Given the description of an element on the screen output the (x, y) to click on. 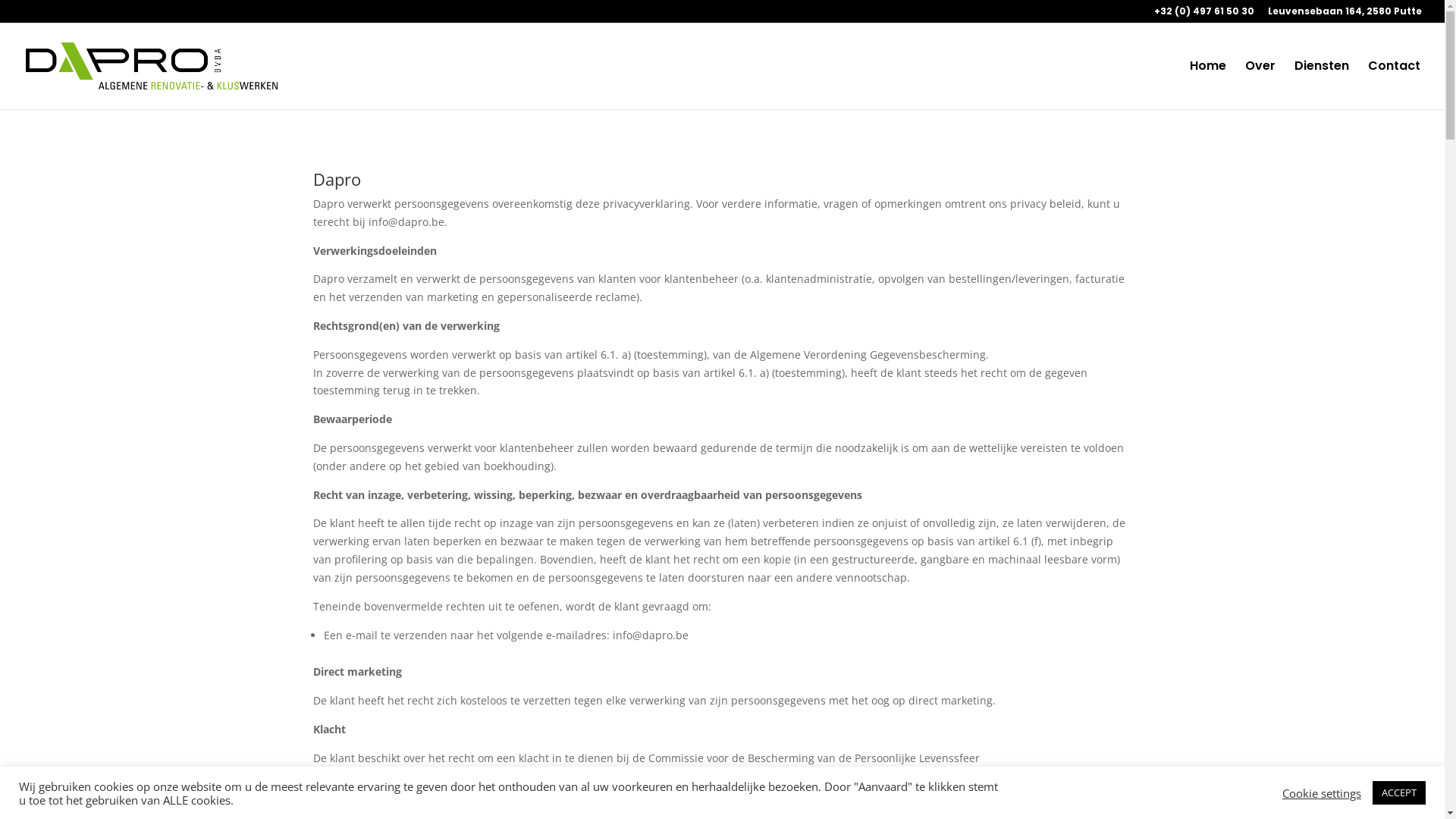
+32 (0) 497 61 50 30 Element type: text (1204, 14)
Leuvensebaan 164, 2580 Putte Element type: text (1344, 14)
Cookie settings Element type: text (1321, 792)
Over Element type: text (1260, 84)
Home Element type: text (1207, 84)
Diensten Element type: text (1321, 84)
ACCEPT Element type: text (1398, 792)
Contact Element type: text (1394, 84)
